Given the description of an element on the screen output the (x, y) to click on. 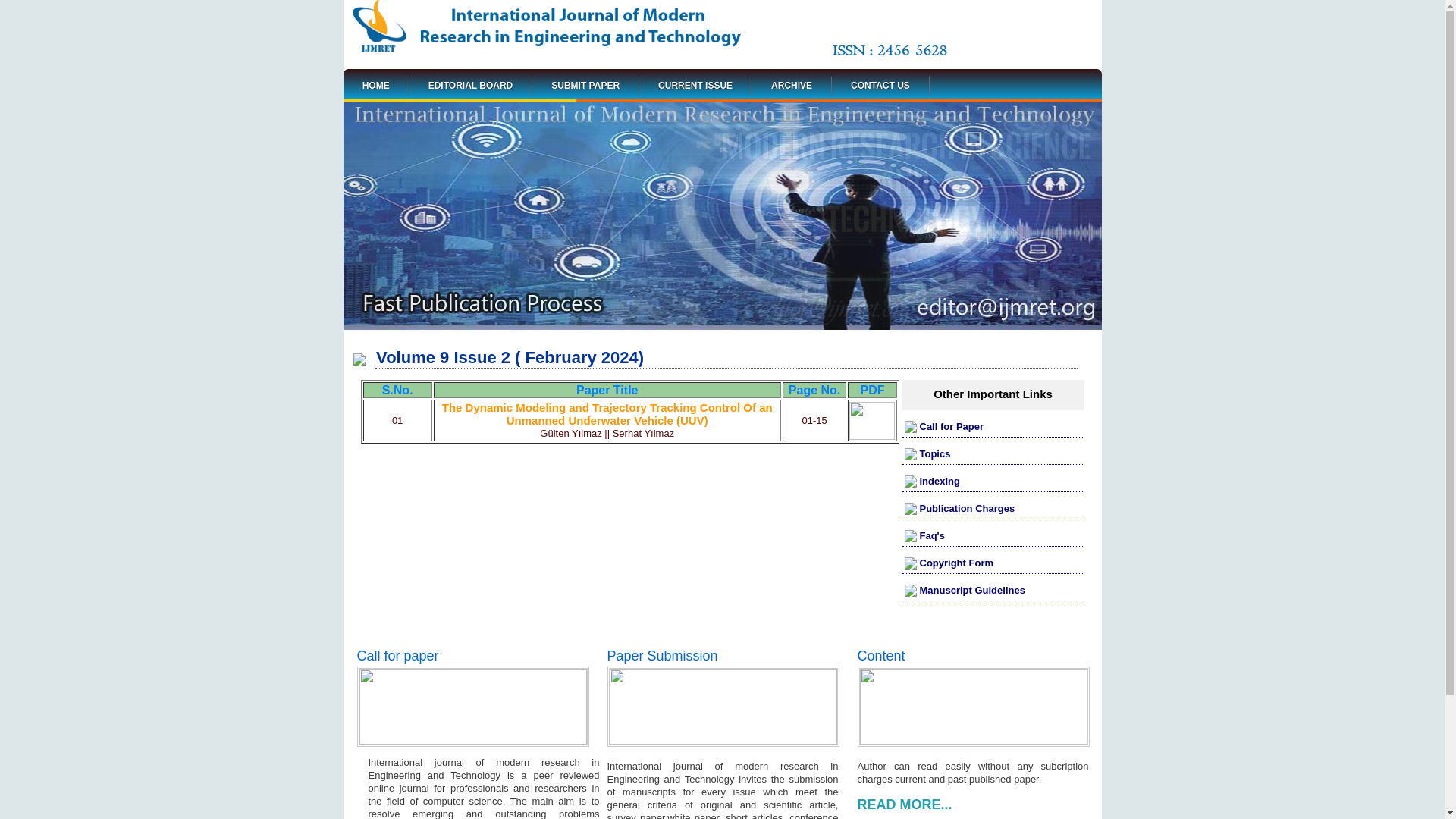
Call for Paper (951, 426)
ARCHIVE (791, 85)
HOME (376, 85)
Manuscript Guidelines (971, 590)
READ MORE... (904, 805)
Indexing (938, 480)
Faq's (930, 535)
Publication Charges (966, 508)
Topics (934, 453)
CURRENT ISSUE (695, 85)
